Given the description of an element on the screen output the (x, y) to click on. 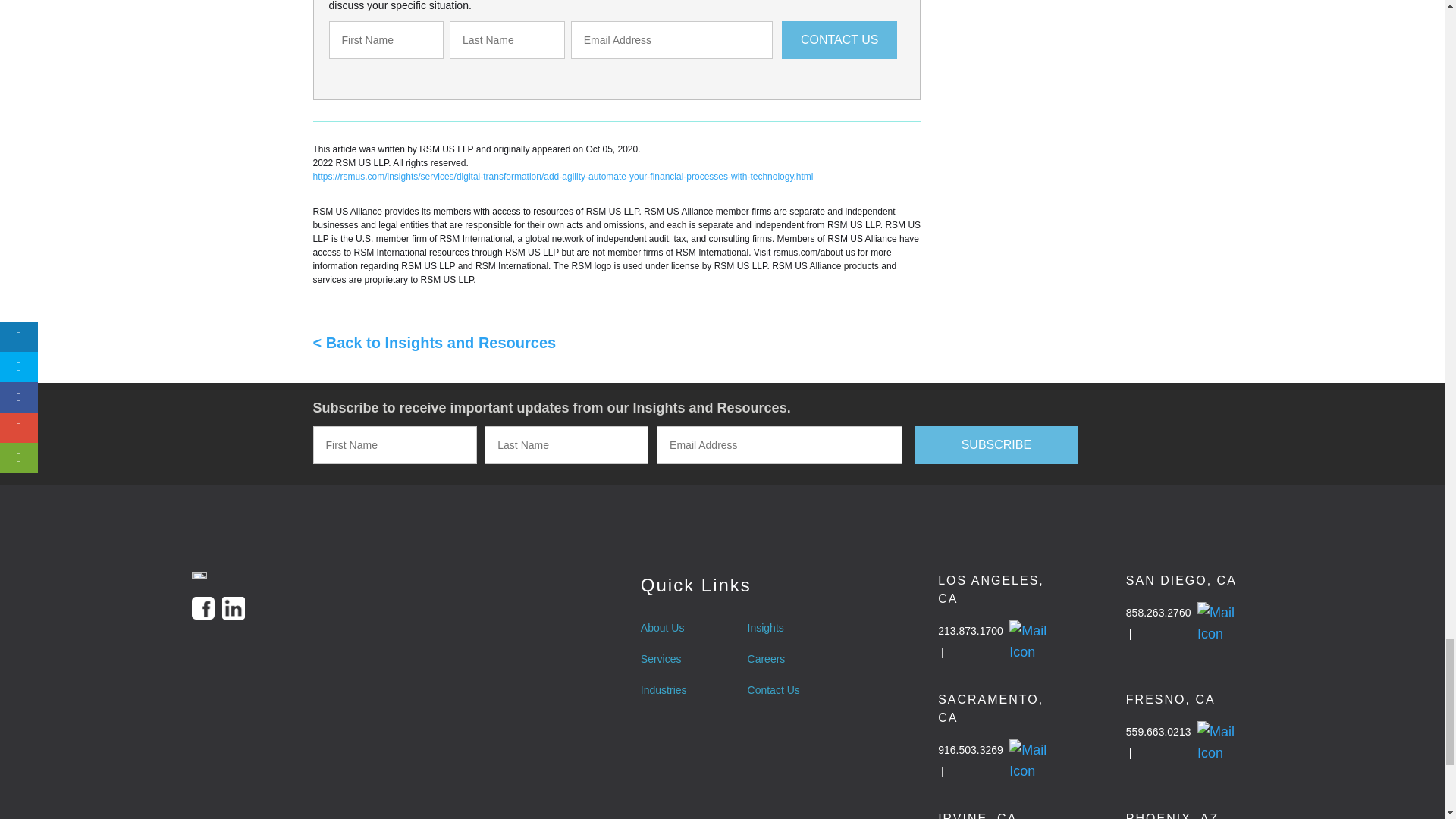
SUBSCRIBE (996, 444)
Insights (773, 628)
Careers (773, 659)
About Us (663, 628)
Services (663, 659)
Contact Us (773, 690)
CONTACT US (838, 39)
Industries (663, 690)
